Given the description of an element on the screen output the (x, y) to click on. 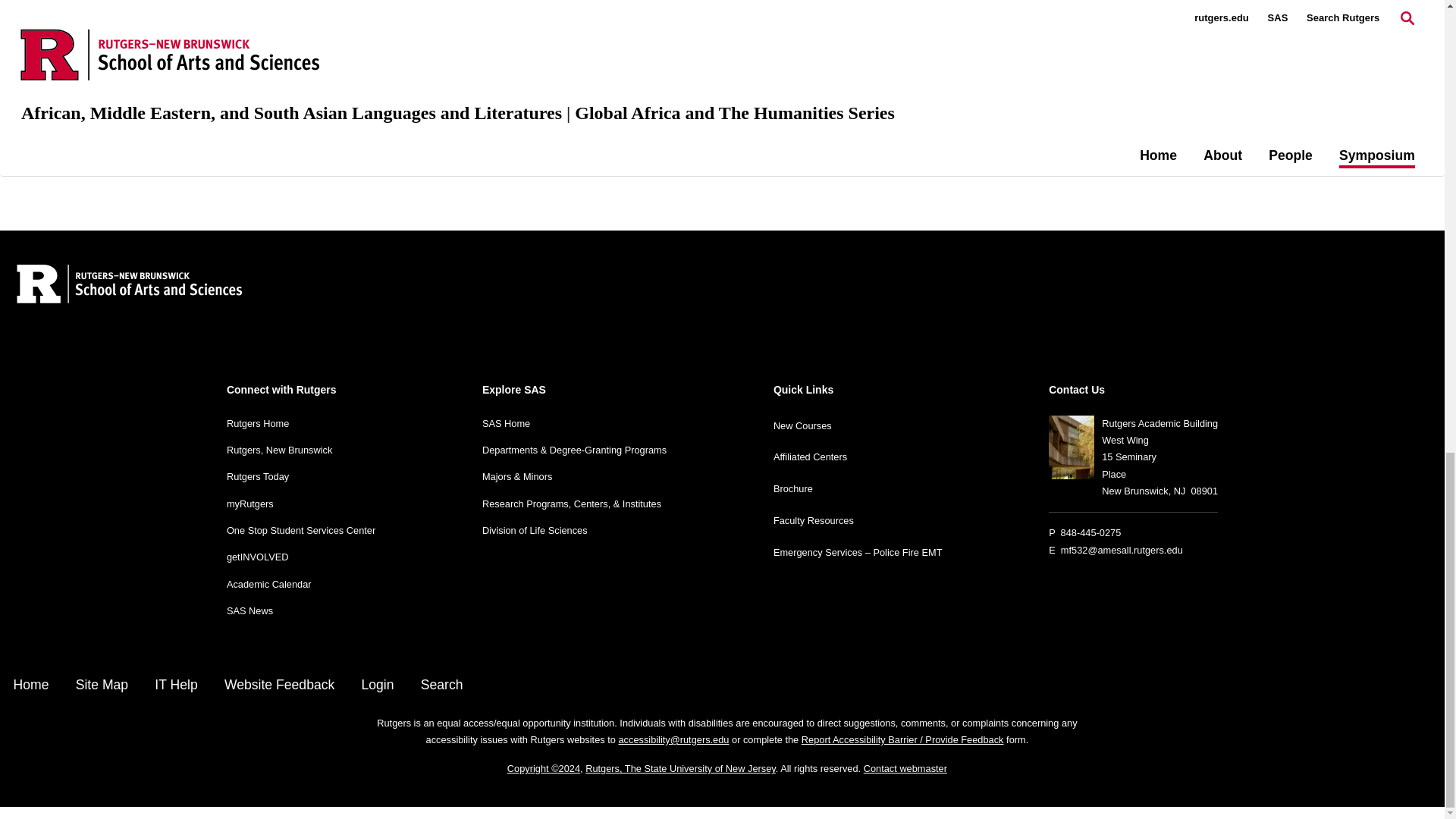
getINVOLVED (257, 556)
Rutgers Today (257, 476)
One Stop Student Services Center (301, 530)
SAS News (250, 610)
Rutgers, New Brunswick (279, 449)
Rutgers Home (258, 423)
myRutgers (250, 503)
Academic Calendar (269, 583)
